Given the description of an element on the screen output the (x, y) to click on. 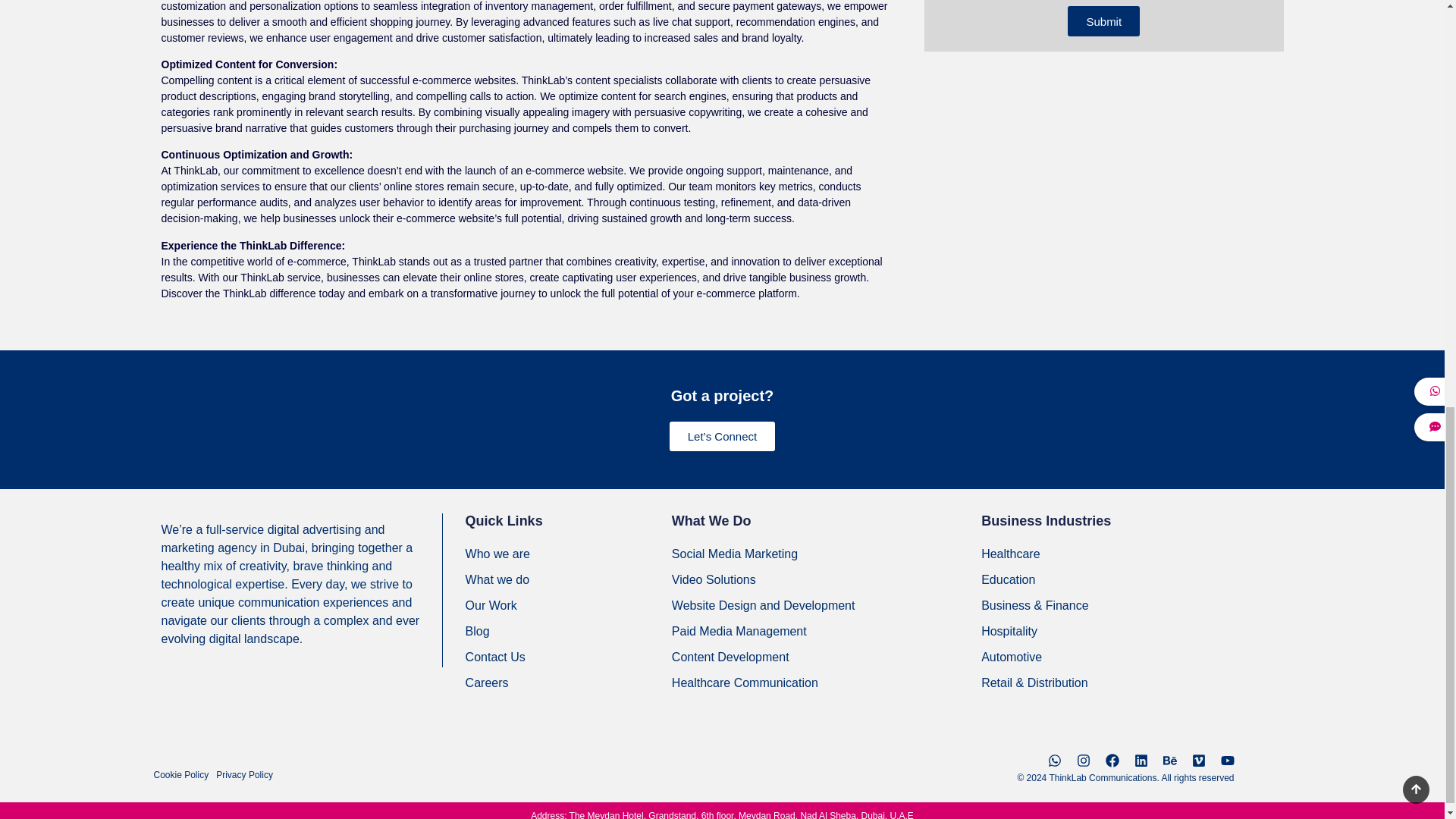
Submit (1103, 20)
Our Work (568, 606)
Contact Us (568, 657)
What we do (568, 579)
Blog (568, 631)
Careers (568, 683)
Who we are (568, 554)
